Given the description of an element on the screen output the (x, y) to click on. 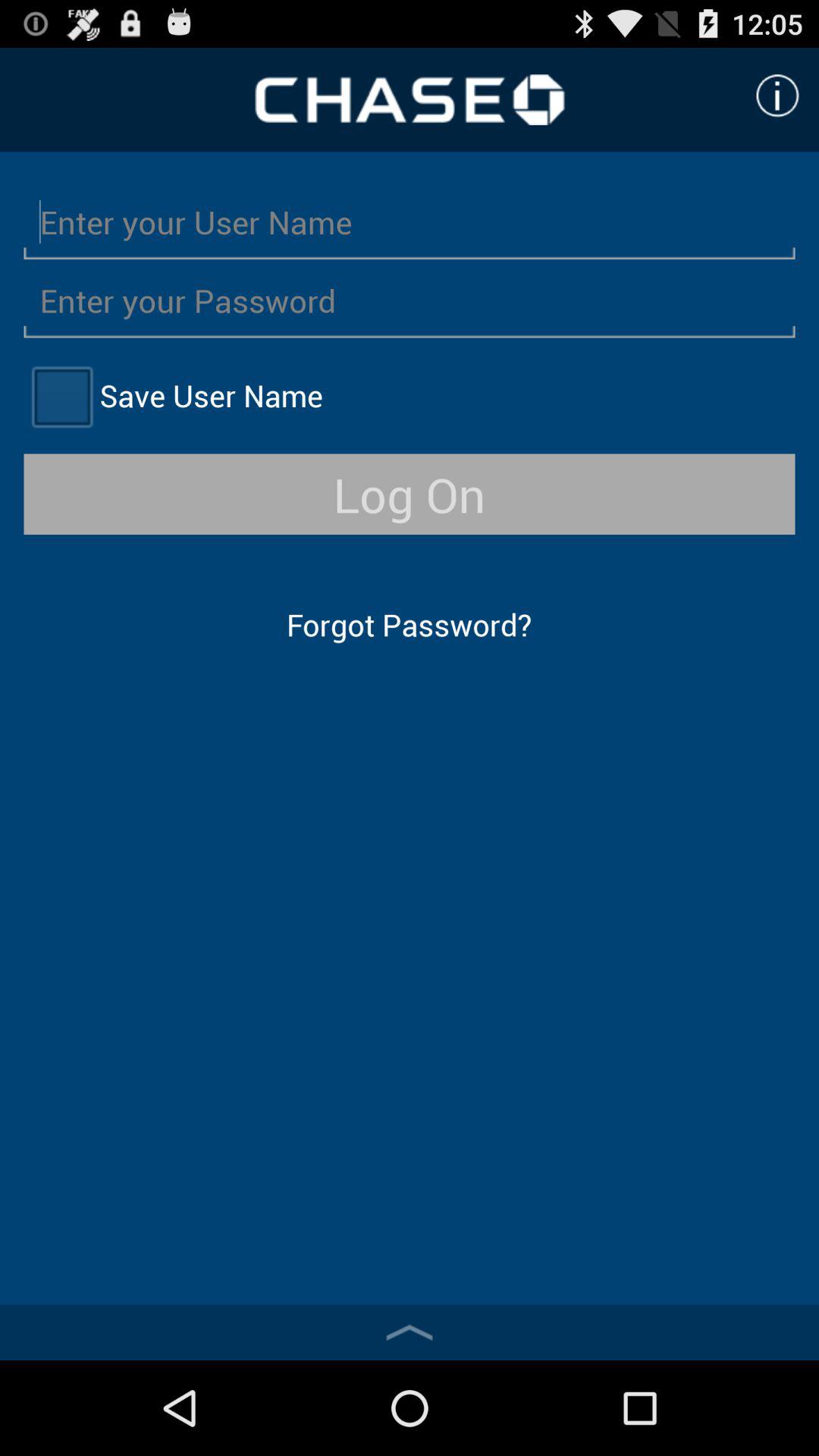
tap the item below log on icon (408, 624)
